Given the description of an element on the screen output the (x, y) to click on. 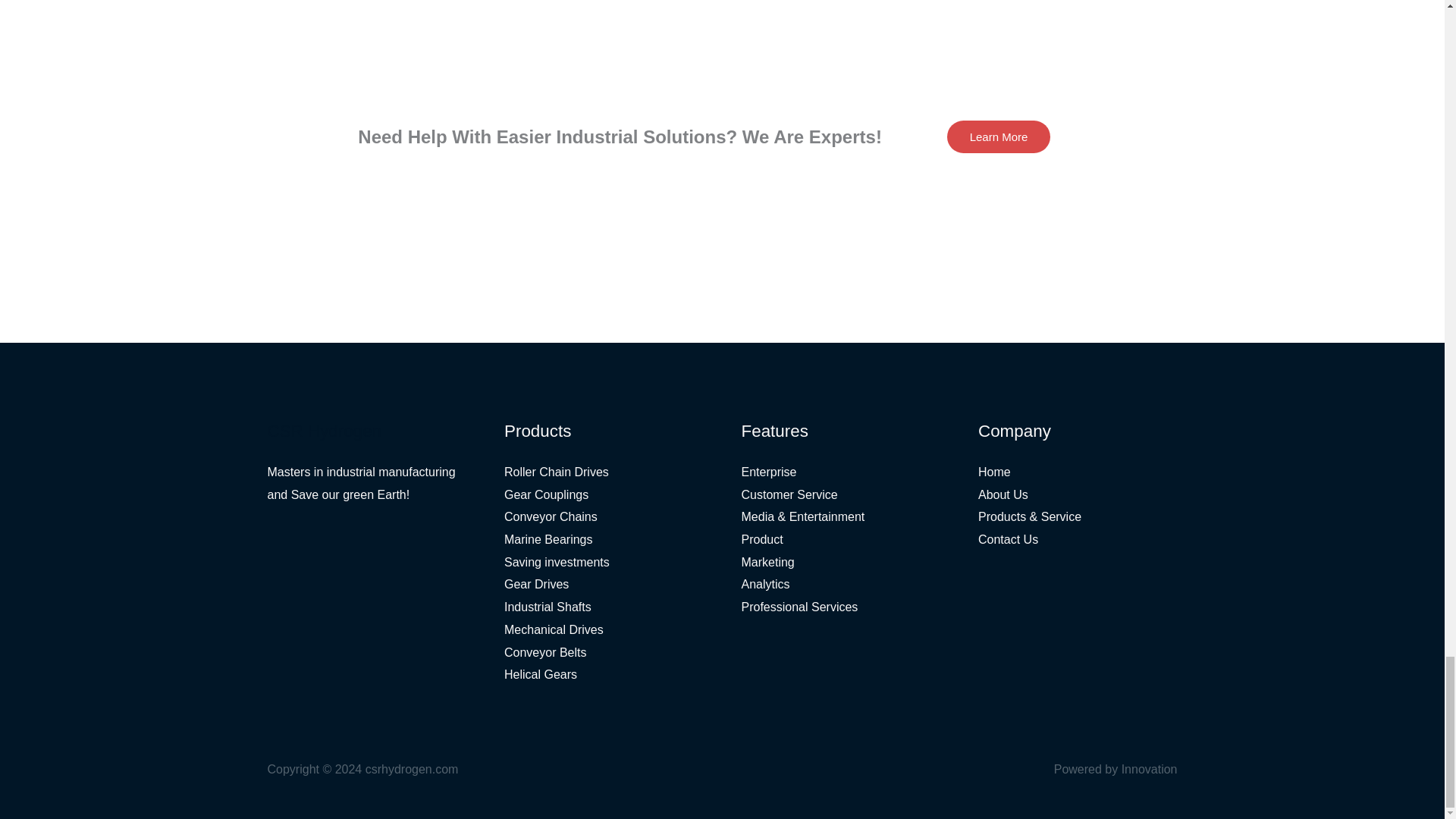
Customer Service (789, 494)
About Us (1002, 494)
Helical Gears (539, 674)
Contact Us (1008, 539)
Conveyor Belts (544, 652)
Industrial Shafts (547, 606)
Saving investments (556, 562)
Enterprise (768, 472)
Gear Drives (536, 584)
Product (762, 539)
